Given the description of an element on the screen output the (x, y) to click on. 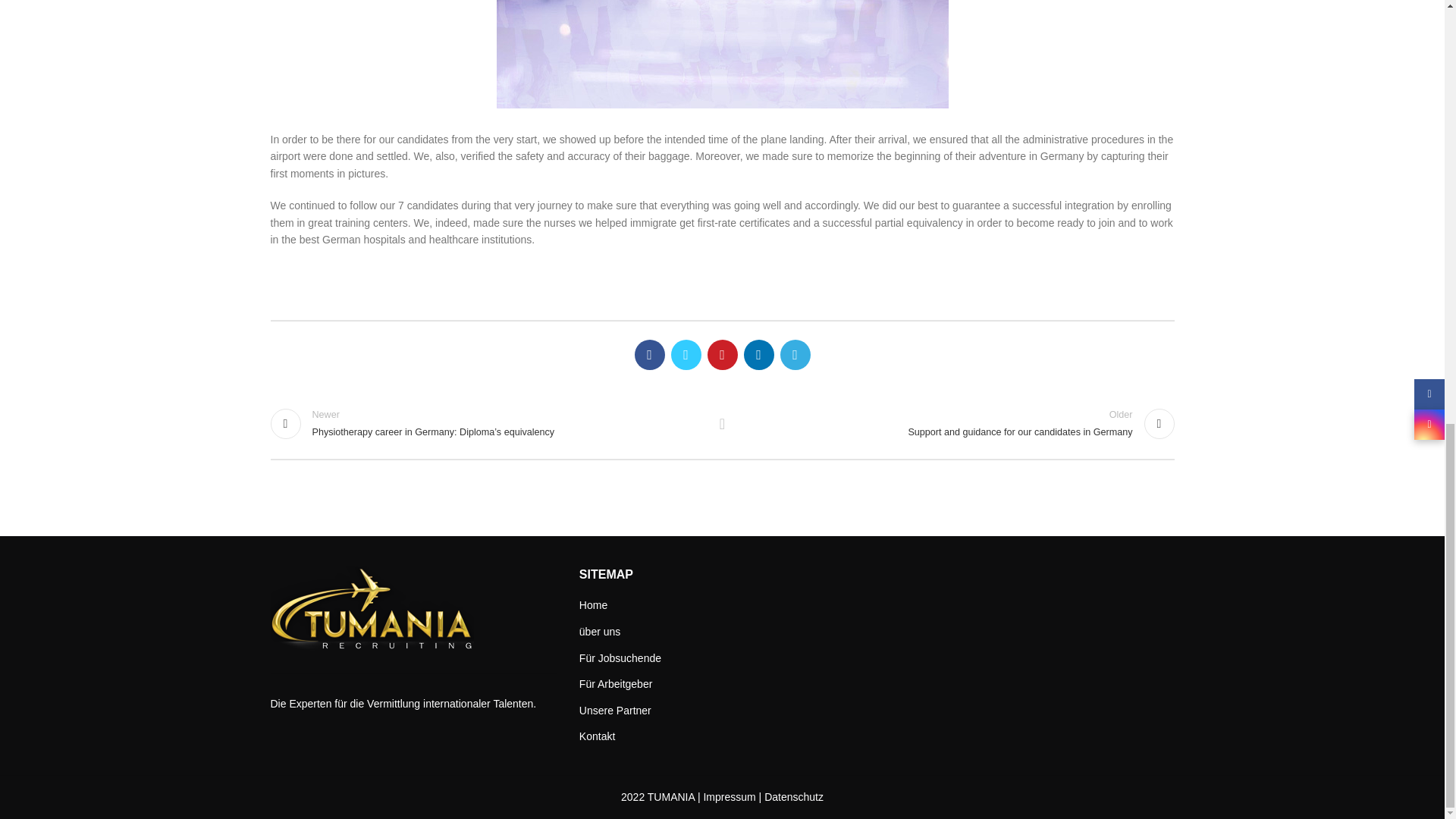
Datenschutz (794, 797)
Home (955, 423)
Unsere Partner (593, 605)
Impressum (615, 711)
Kontakt (729, 797)
Back to list (597, 736)
